Given the description of an element on the screen output the (x, y) to click on. 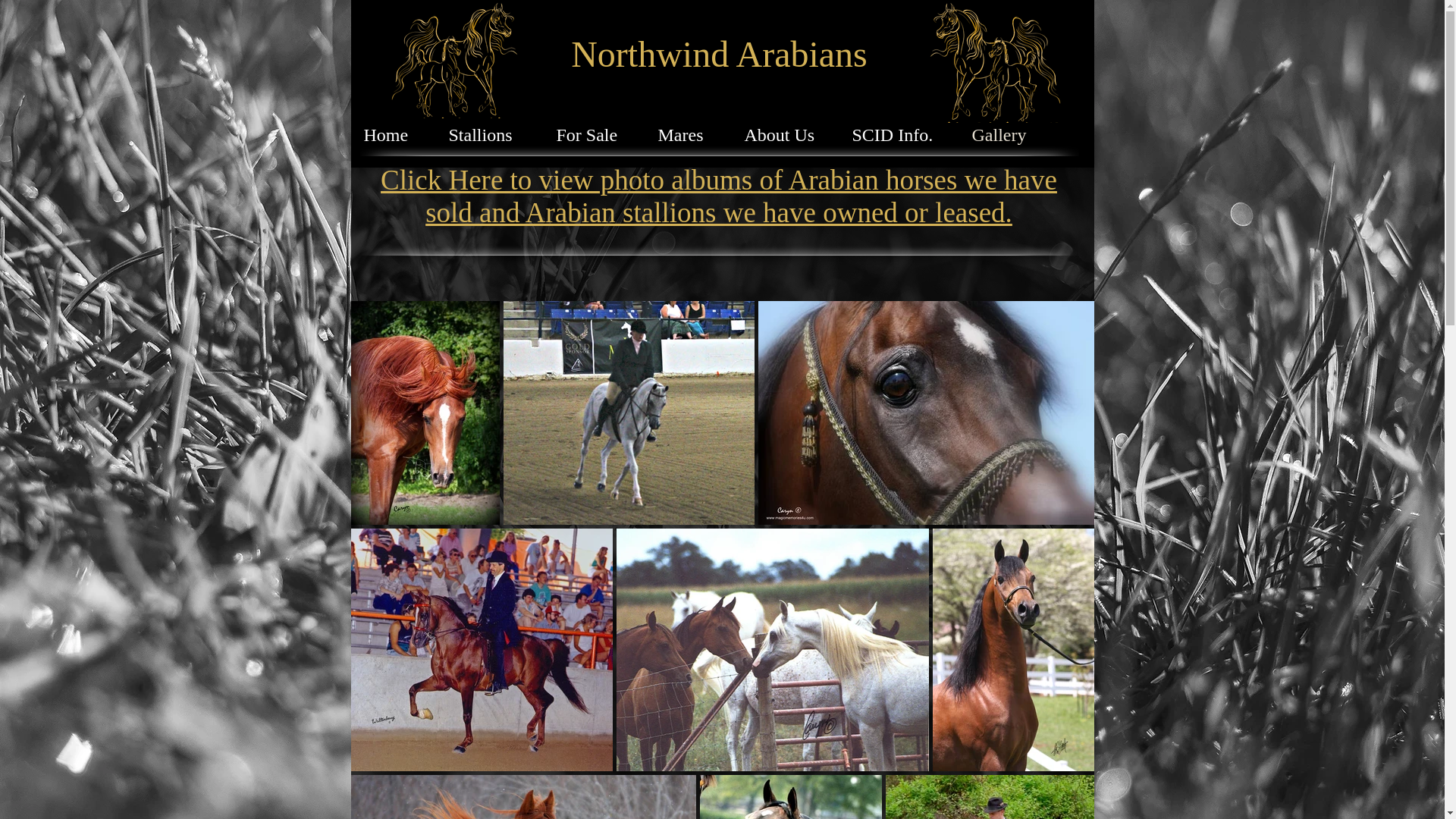
Gallery (1003, 131)
Mares (685, 131)
Home (389, 131)
Northwind Arabians (718, 54)
For Sale (591, 131)
About Us (781, 131)
Stallions (486, 131)
SCID Info. (895, 131)
Nw Newlogorev.png (994, 61)
